Given the description of an element on the screen output the (x, y) to click on. 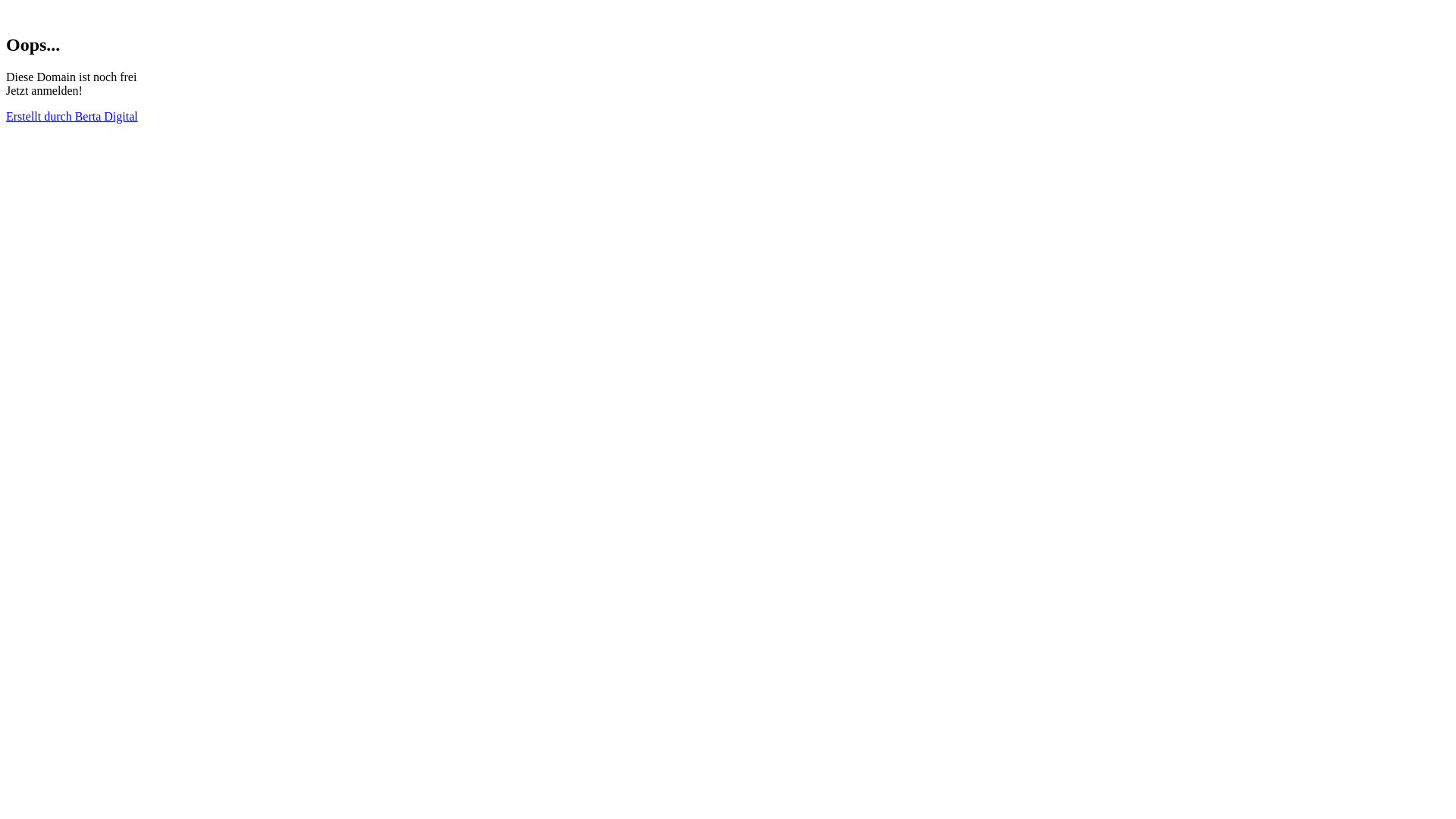
Erstellt durch Berta Digital Element type: text (72, 115)
